Given the description of an element on the screen output the (x, y) to click on. 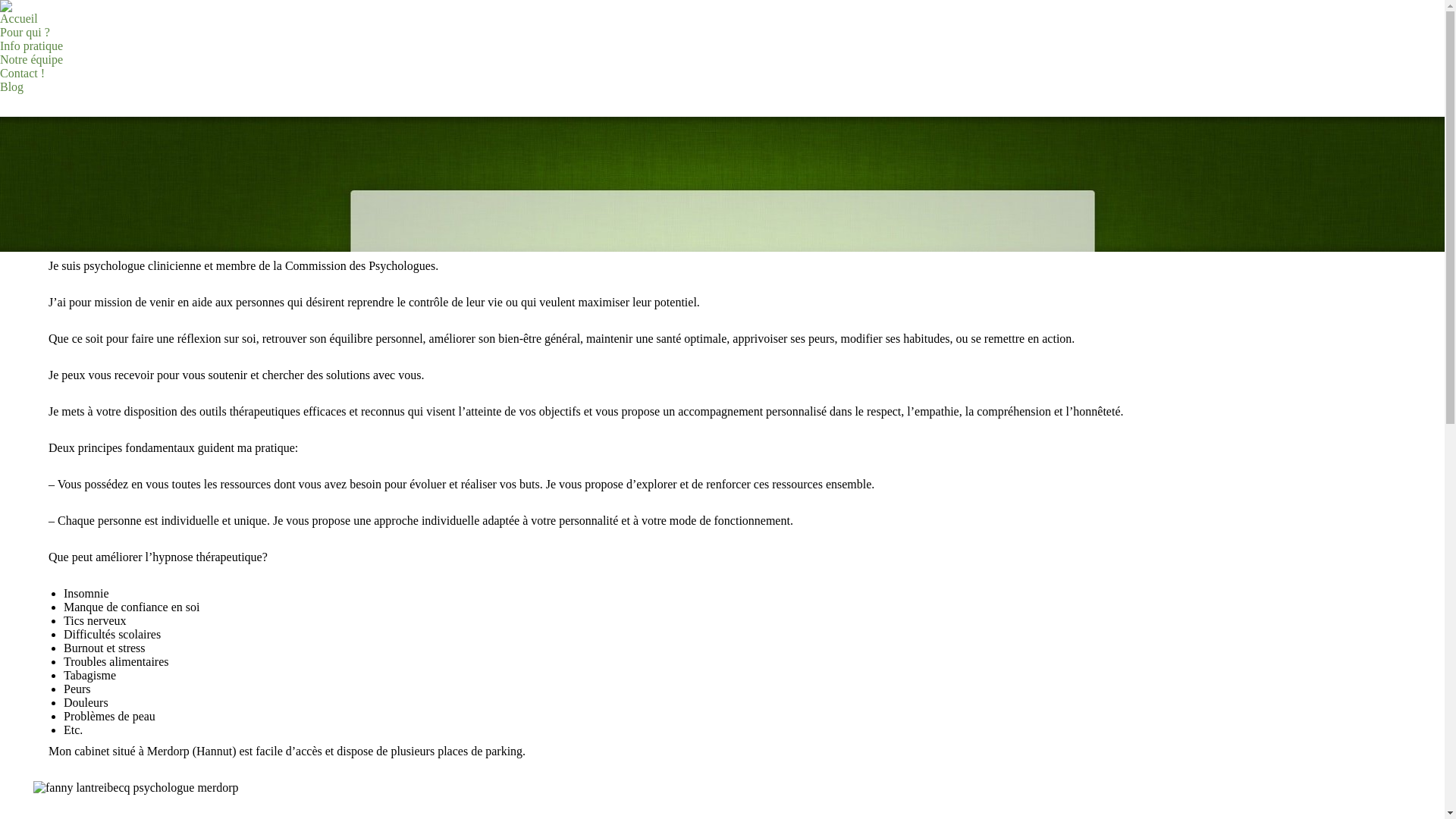
Accueil Element type: text (18, 18)
Pour qui ? Element type: text (25, 32)
Blog Element type: text (11, 87)
Info pratique Element type: text (31, 46)
Contact ! Element type: text (22, 73)
